Given the description of an element on the screen output the (x, y) to click on. 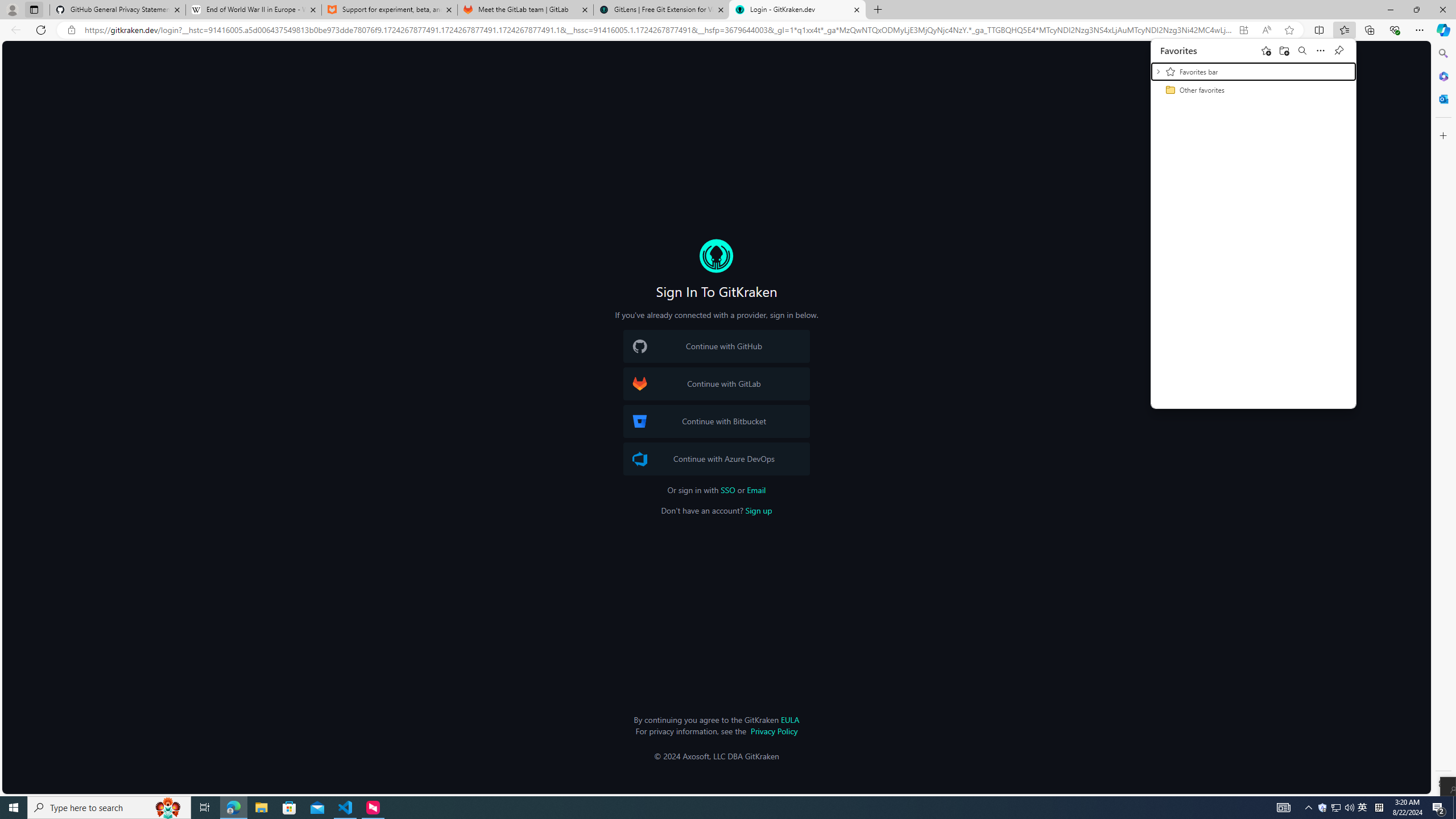
File Explorer (261, 807)
Running applications (700, 807)
Type here to search (108, 807)
Login - GitKraken.dev (797, 9)
Email (755, 489)
Task View (204, 807)
Sign up (758, 510)
Search favorites (1302, 49)
Search highlights icon opens search home window (167, 807)
Bitbucket Logo (639, 421)
AutomationID: 4105 (1283, 807)
Microsoft Edge - 1 running window (233, 807)
